Given the description of an element on the screen output the (x, y) to click on. 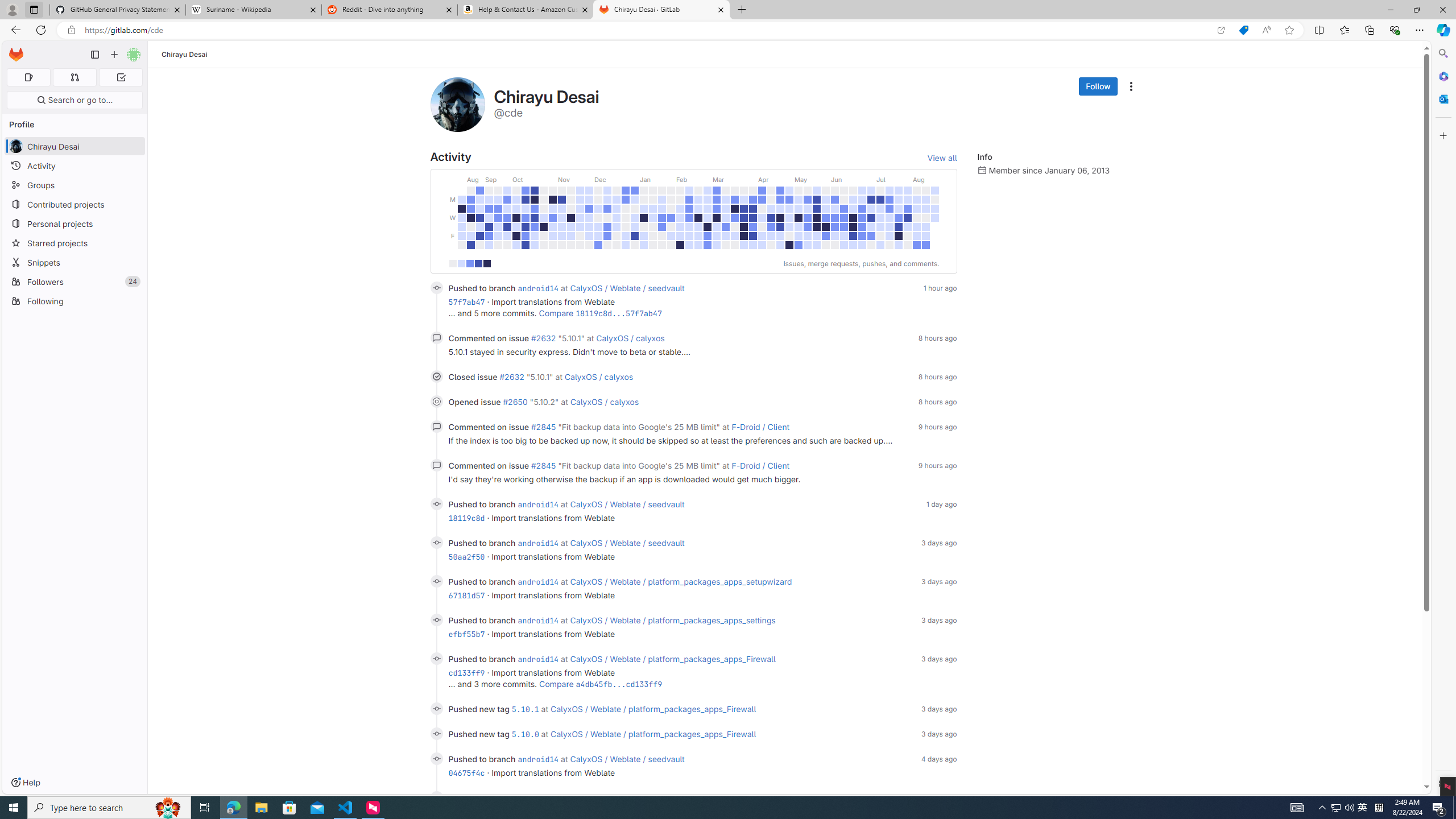
Chirayu Desai (184, 53)
